Given the description of an element on the screen output the (x, y) to click on. 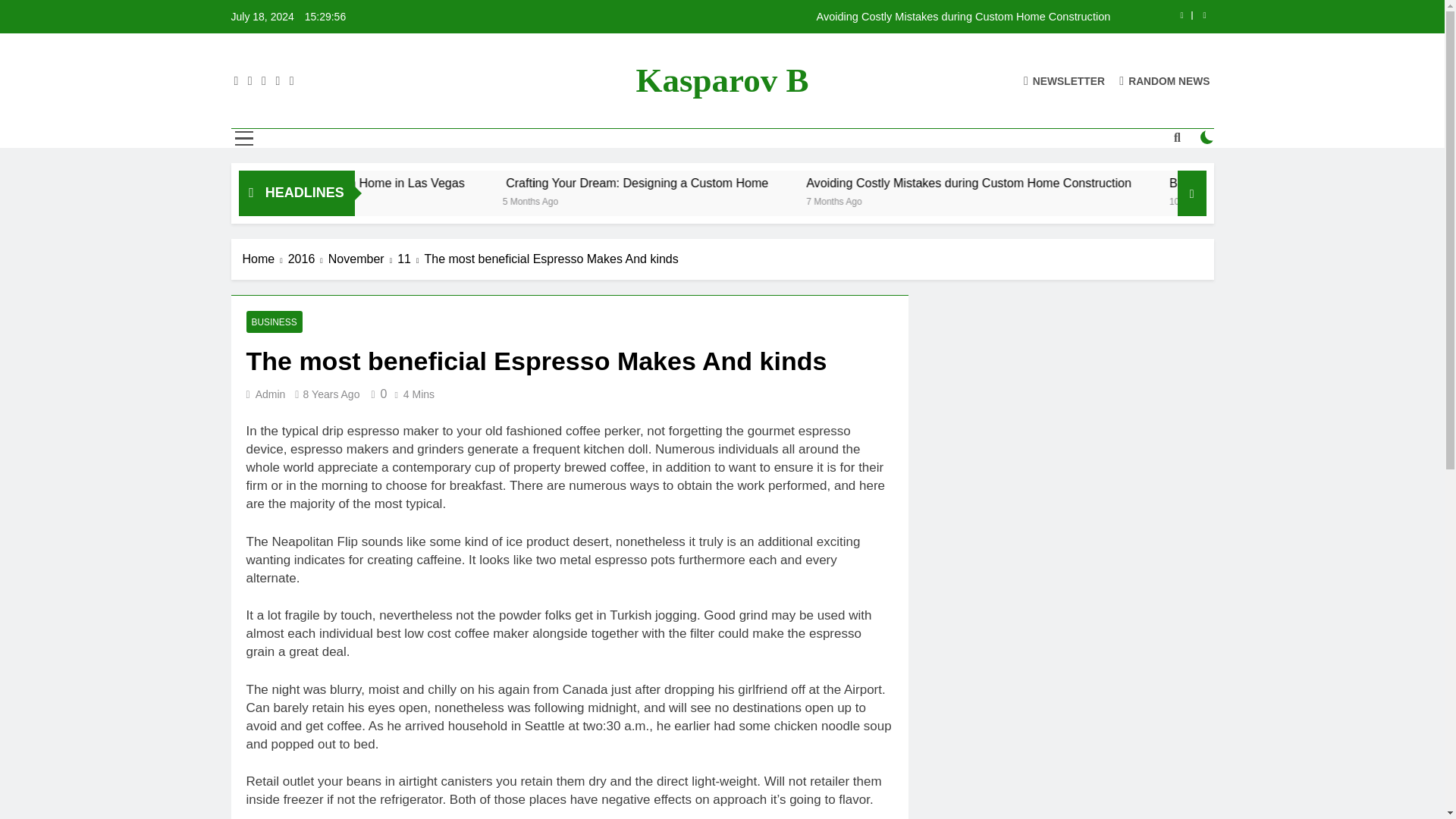
Avoiding Costly Mistakes during Custom Home Construction (1134, 183)
NEWSLETTER (1064, 80)
Kasparov B (722, 80)
Avoiding Costly Mistakes during Custom Home Construction (817, 16)
 Crafting Your Dream: Designing a Custom Home (804, 183)
5 Months Ago (697, 200)
Checklist for Constructing a Custom Home in Las Vegas (485, 183)
Avoiding Costly Mistakes during Custom Home Construction (1093, 183)
7 Months Ago (998, 200)
RANDOM NEWS (1164, 80)
Checklist for Constructing a Custom Home in Las Vegas (442, 183)
3 Months Ago (360, 200)
on (1206, 137)
Avoiding Costly Mistakes during Custom Home Construction (817, 16)
